Given the description of an element on the screen output the (x, y) to click on. 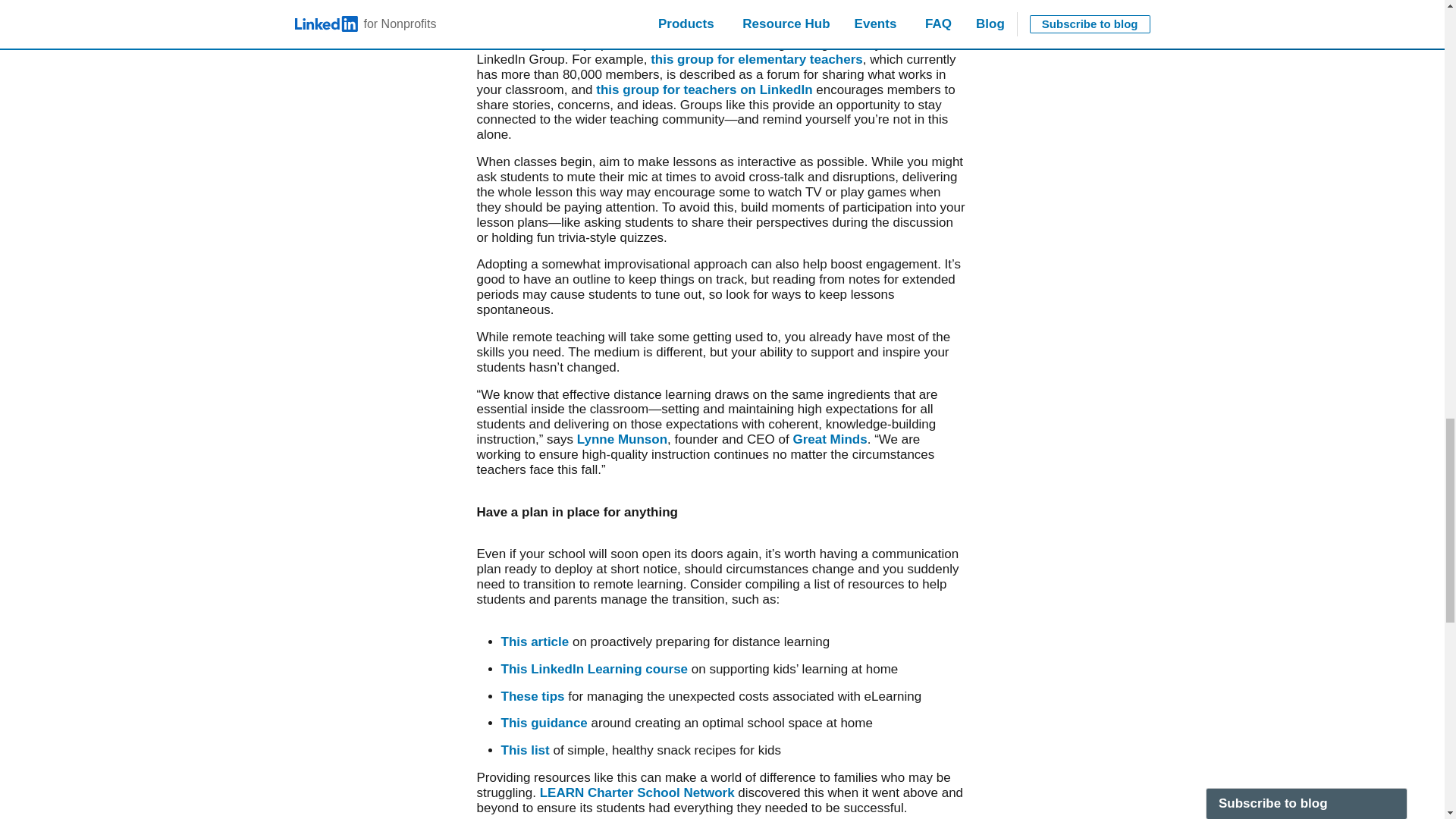
Teaching Future-Ready Students (600, 4)
Lynne Munson (621, 439)
this group for teachers on LinkedIn (703, 89)
this group for elementary teachers (756, 59)
